Given the description of an element on the screen output the (x, y) to click on. 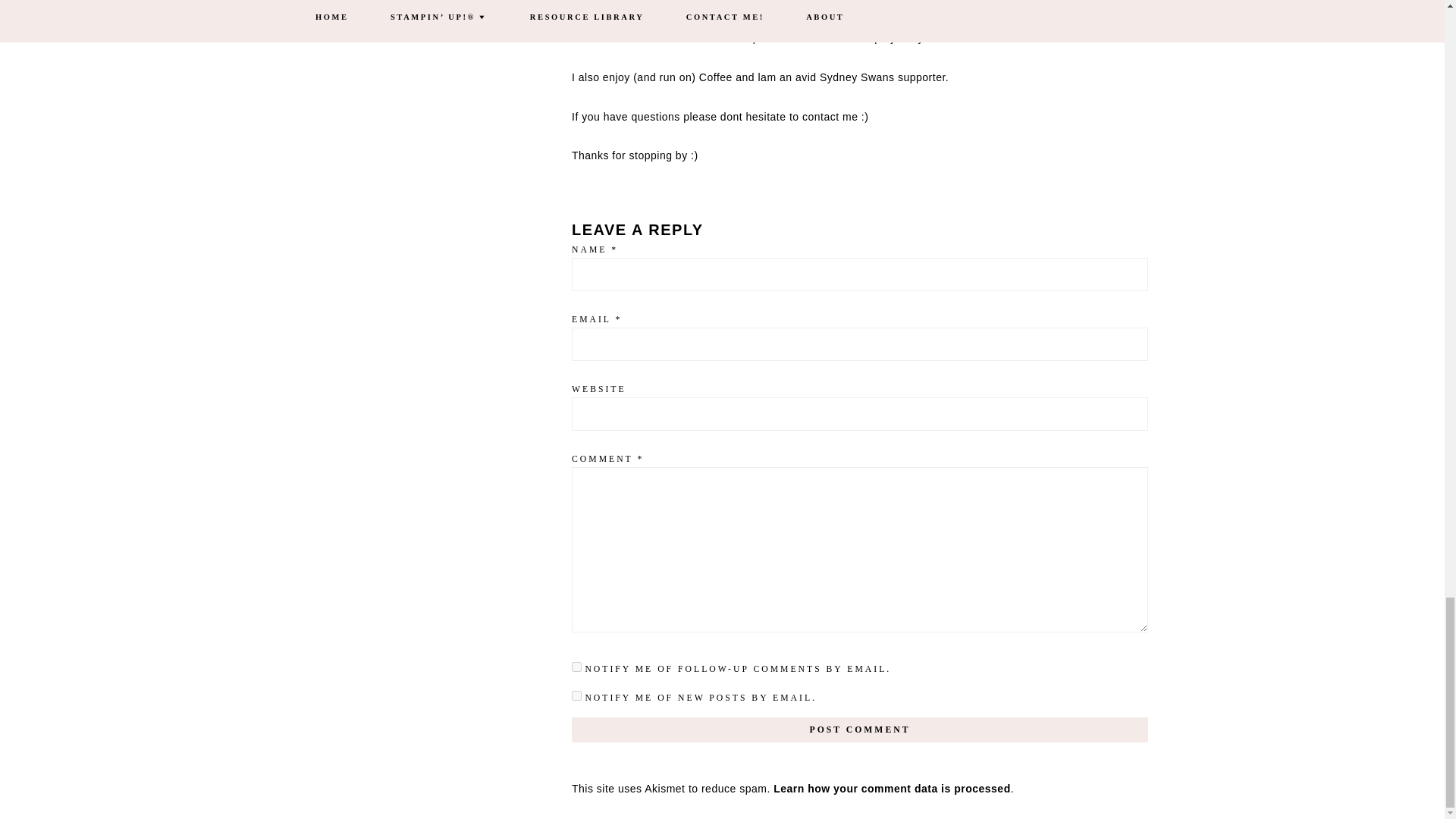
subscribe (576, 666)
Post Comment (860, 729)
subscribe (576, 696)
